Given the description of an element on the screen output the (x, y) to click on. 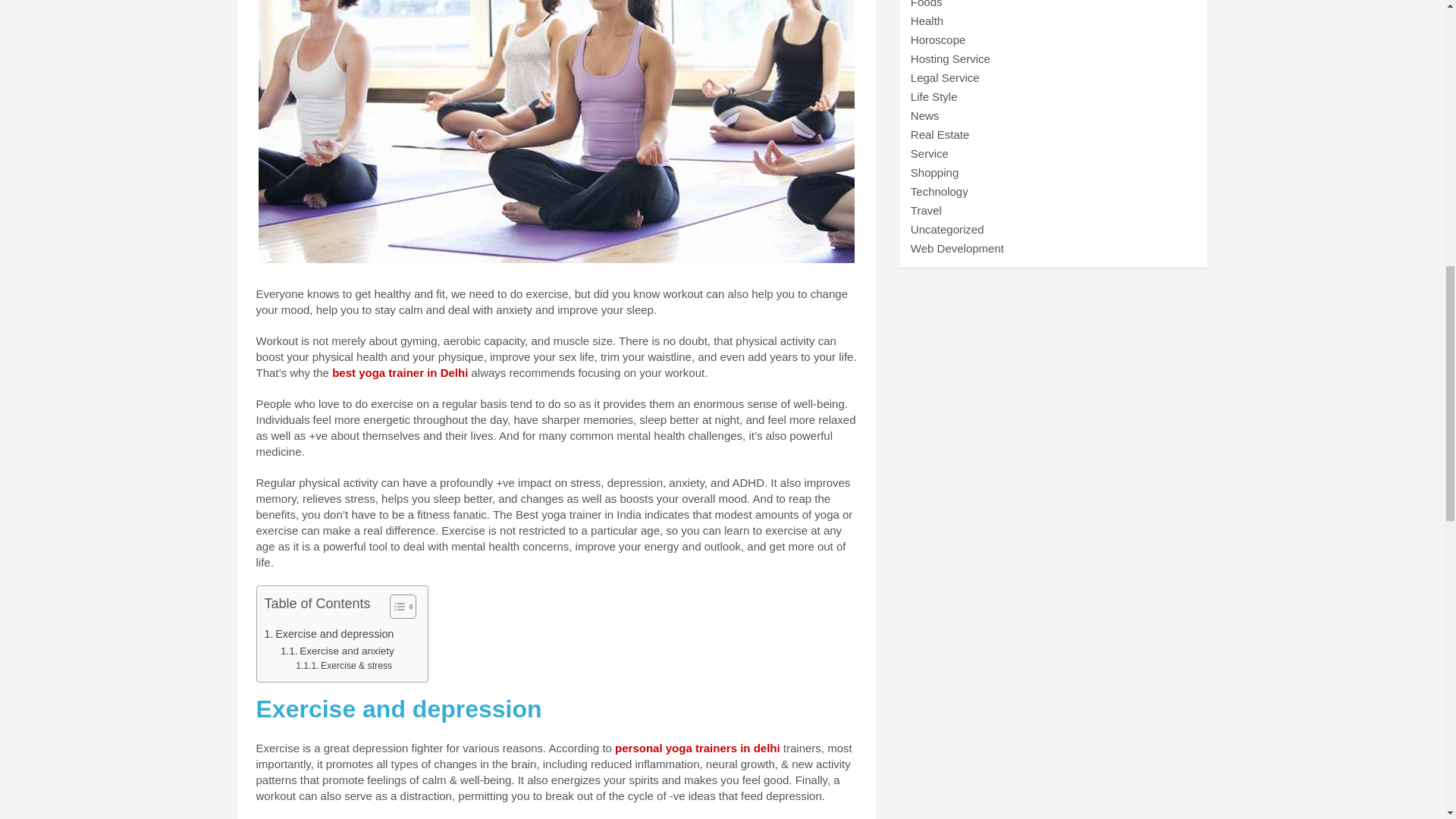
Exercise and depression (328, 633)
Exercise and anxiety (337, 651)
